Given the description of an element on the screen output the (x, y) to click on. 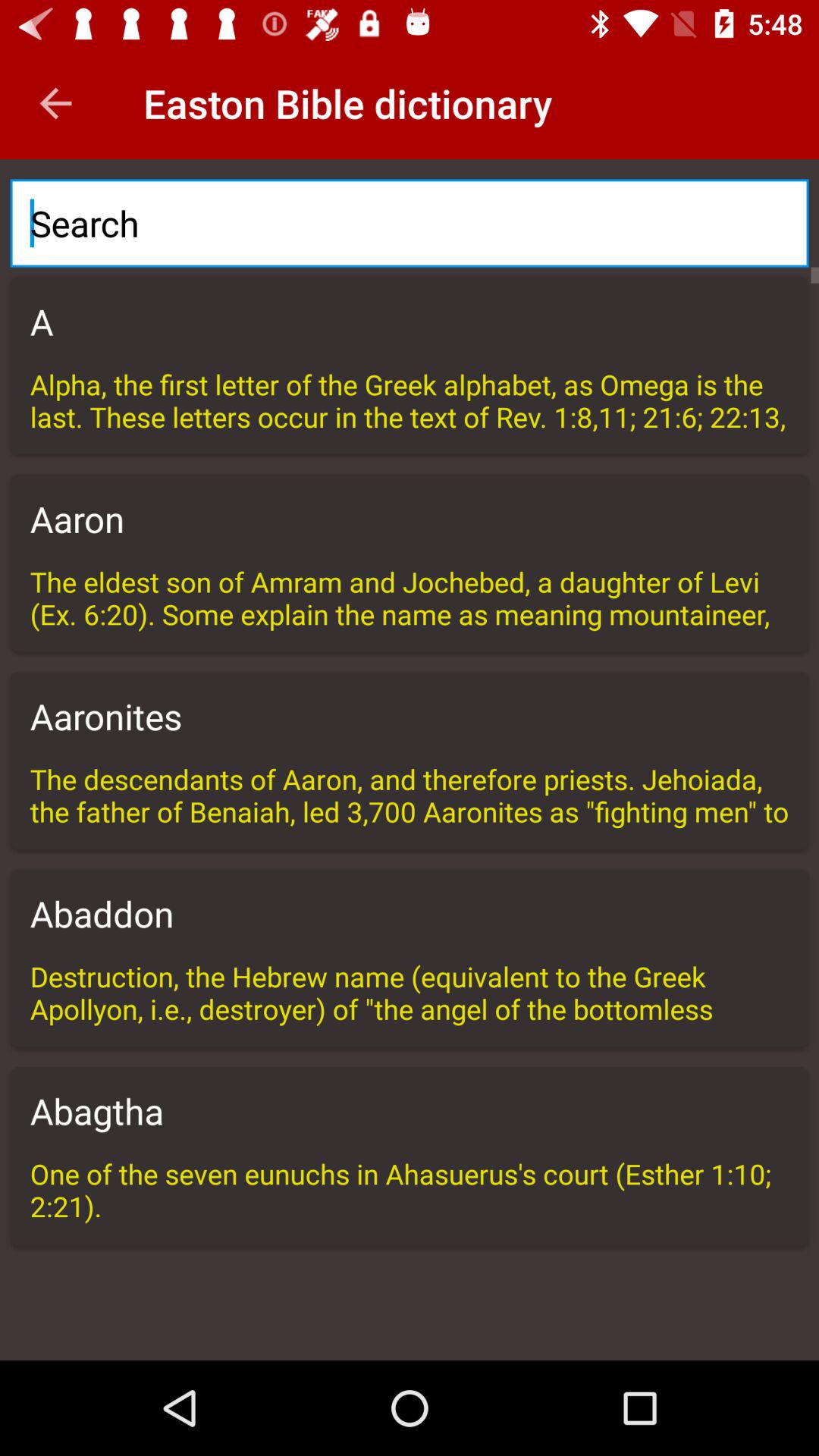
type search terms (409, 223)
